Given the description of an element on the screen output the (x, y) to click on. 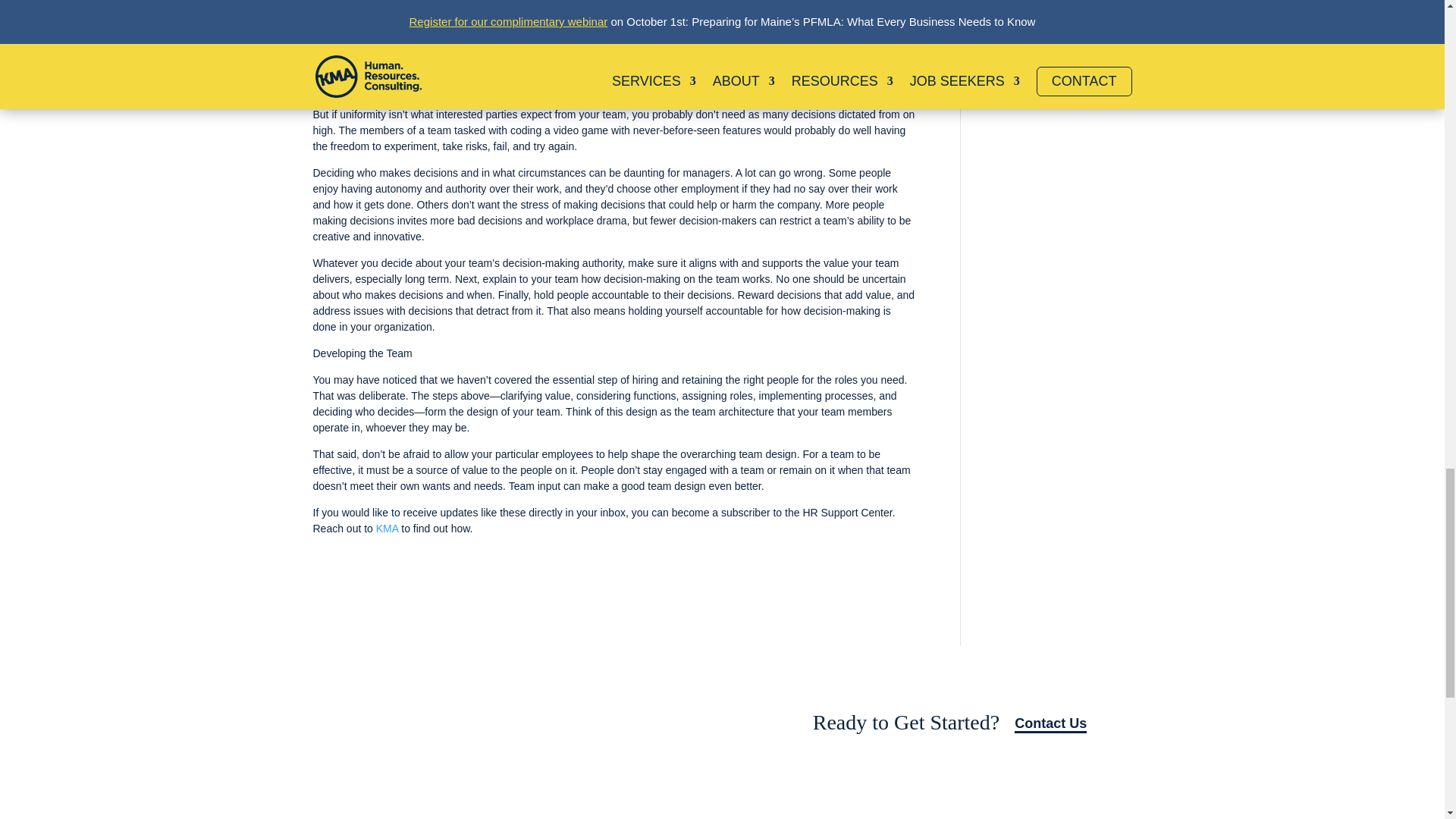
Contact Us (1050, 724)
KMA (386, 528)
Sign Up (630, 724)
